Given the description of an element on the screen output the (x, y) to click on. 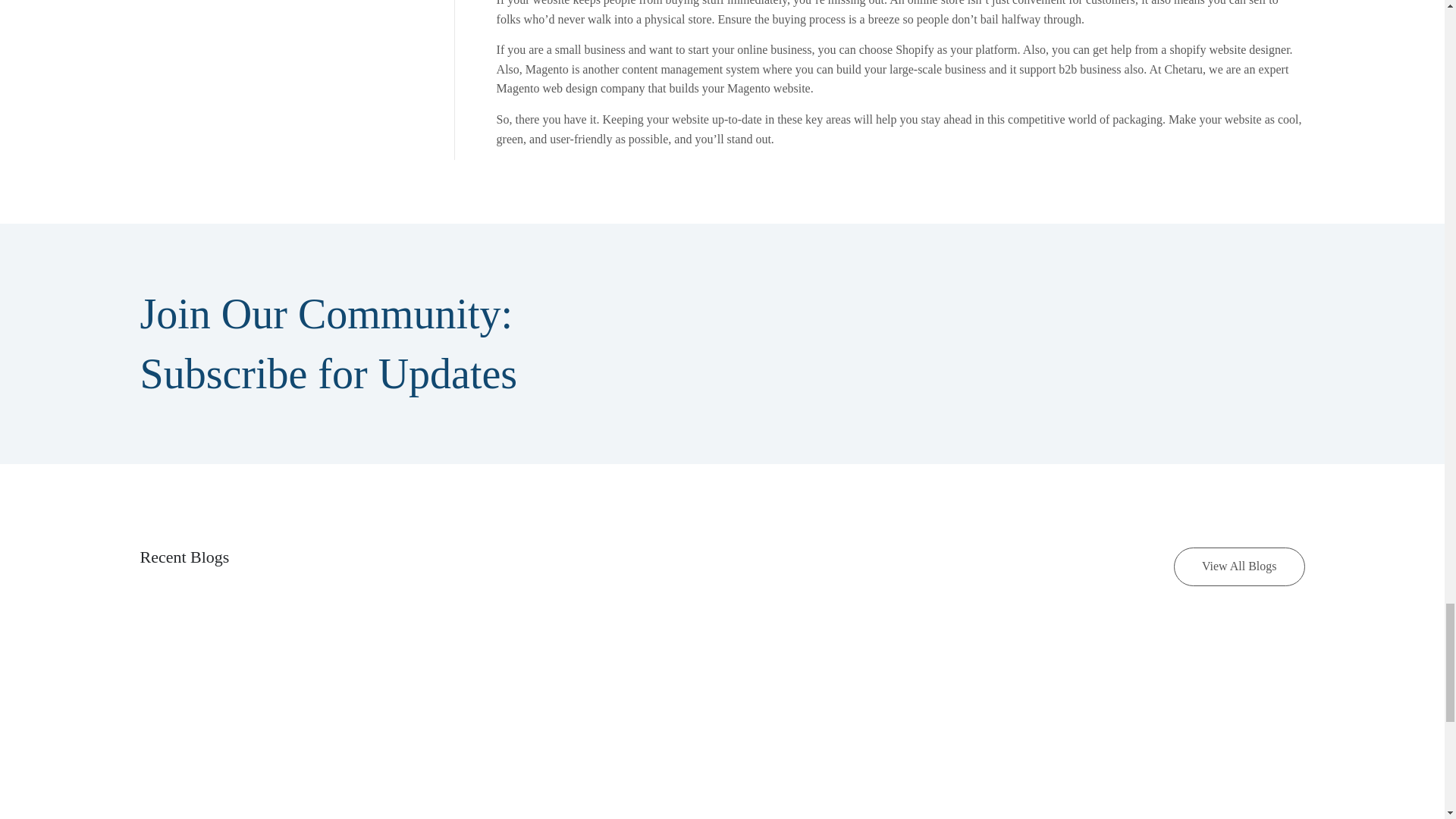
View All Blogs (1238, 566)
Magento web design company (570, 88)
shopify website designer (1228, 49)
